Given the description of an element on the screen output the (x, y) to click on. 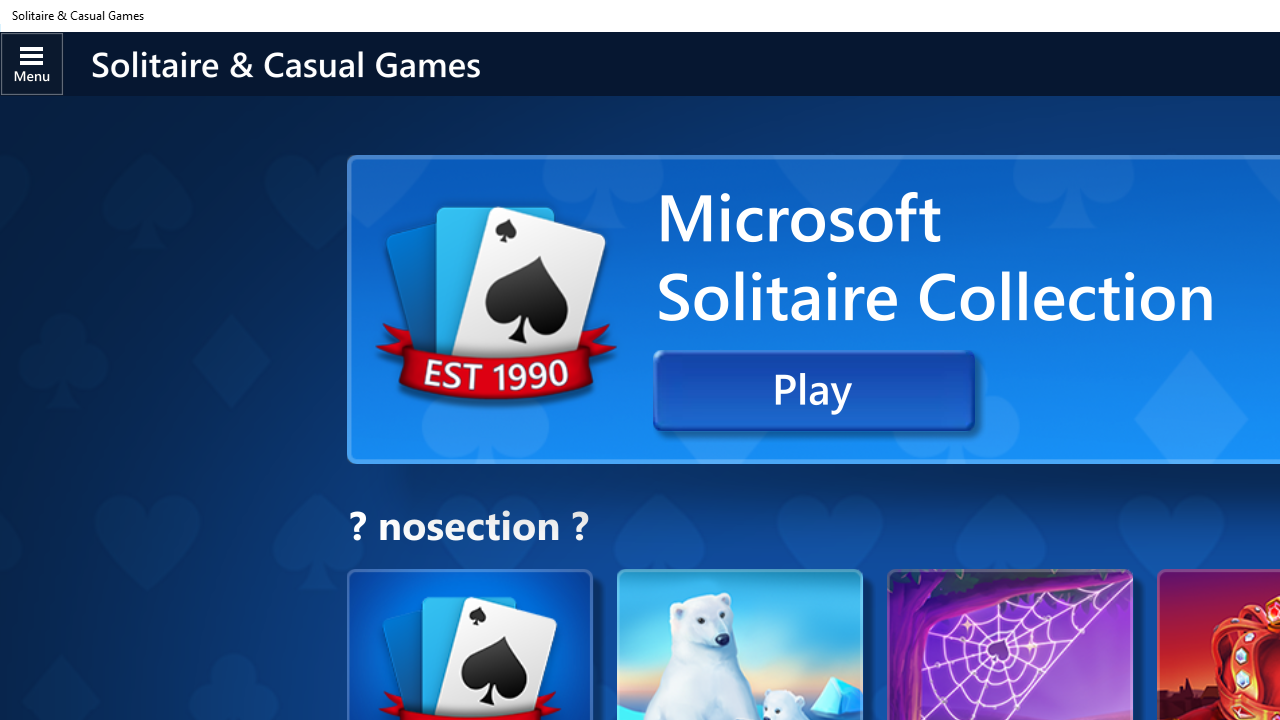
Play (813, 390)
Menu (32, 63)
